Given the description of an element on the screen output the (x, y) to click on. 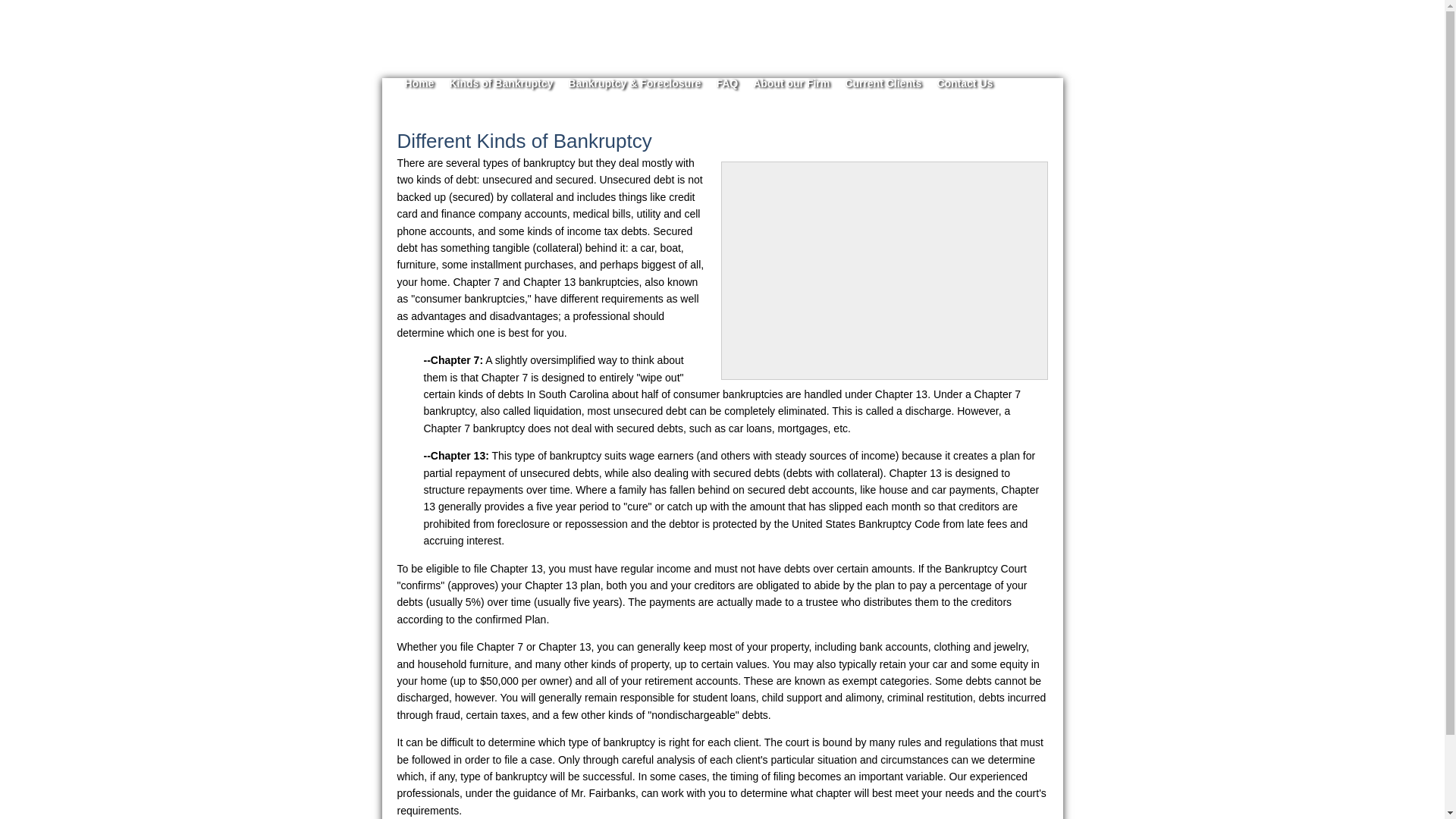
Home (418, 82)
Current Clients (882, 82)
About our Firm (790, 82)
About our Firm (790, 82)
Contact Us (964, 82)
Kinds of Bankruptcy (500, 82)
Contact Us (964, 82)
FAQ (727, 82)
Bankruptcy and Foreclosure (633, 82)
Current Clients (882, 82)
Frequently Asked Questions (727, 82)
